Given the description of an element on the screen output the (x, y) to click on. 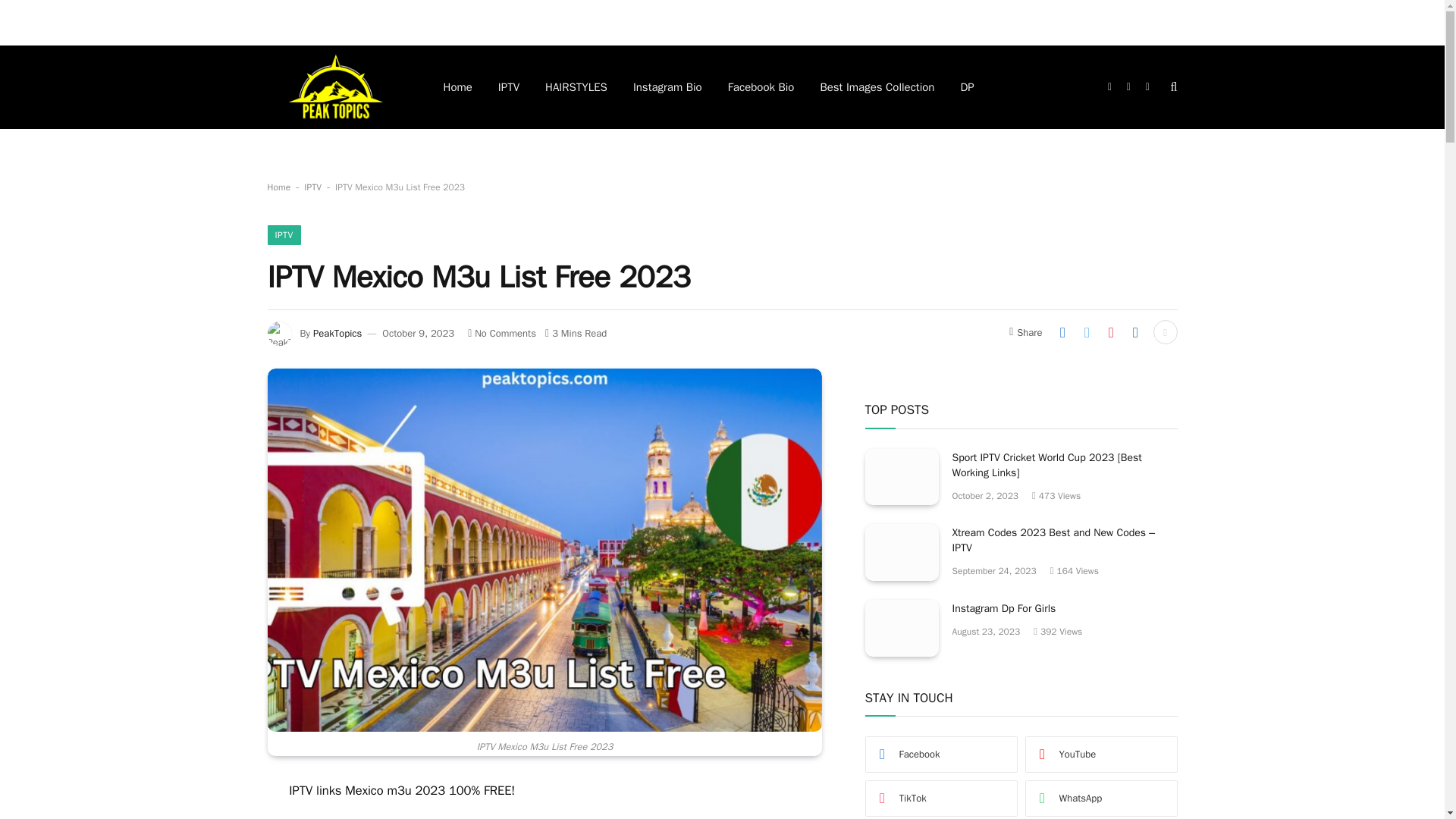
IPTV (282, 234)
PeakTopics (337, 332)
IPTV (312, 186)
Share on Pinterest (1110, 331)
Best Images Collection (876, 86)
HAIRSTYLES (576, 86)
Facebook Bio (761, 86)
Share on Facebook (1062, 331)
No Comments (501, 332)
Posts by PeakTopics (337, 332)
Home (277, 186)
Peak Topics (334, 86)
Instagram Bio (667, 86)
Share on LinkedIn (1135, 331)
